Given the description of an element on the screen output the (x, y) to click on. 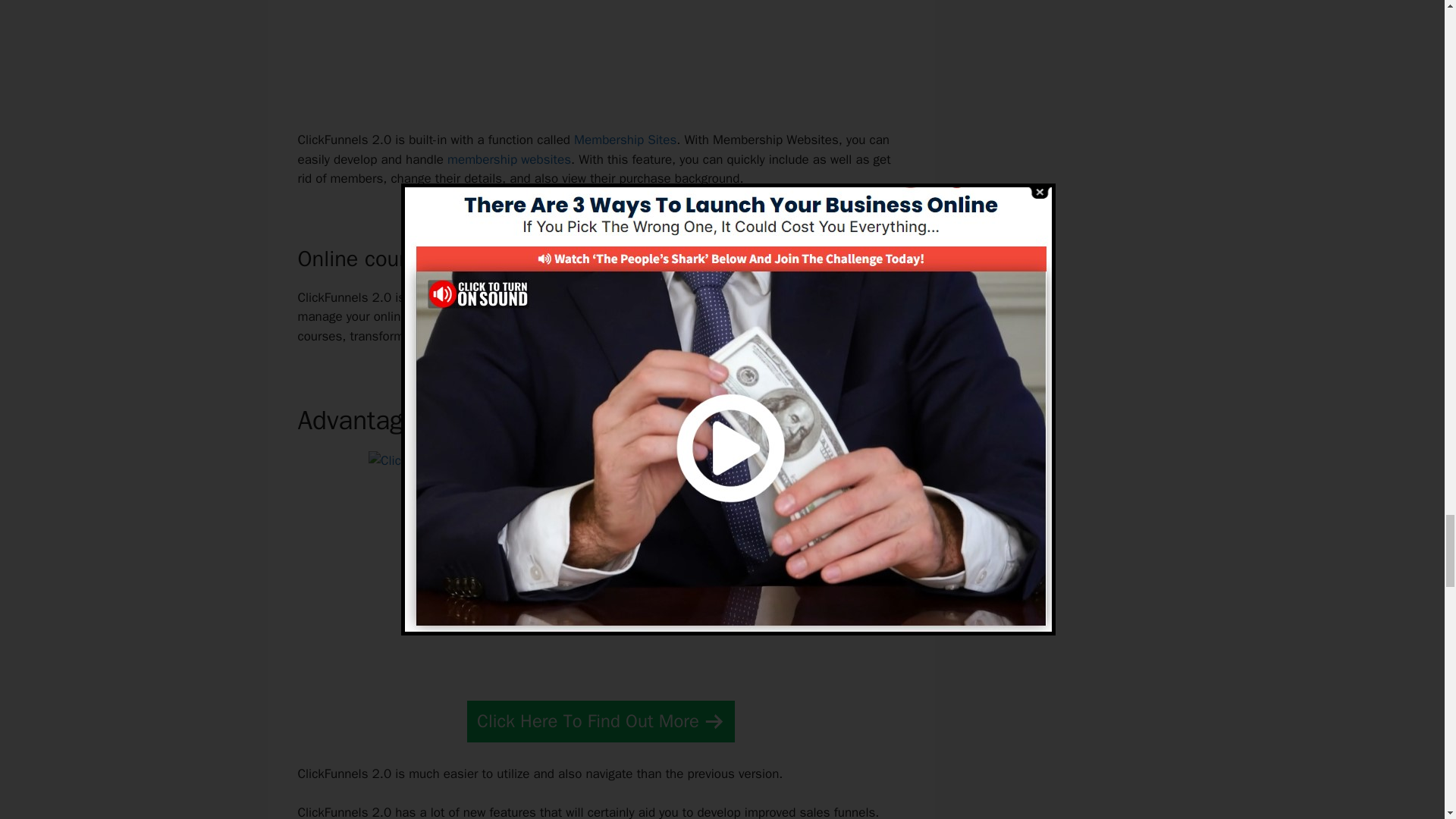
Membership Sites (625, 139)
membership websites (508, 159)
Click Here To Find Out More (601, 721)
